Given the description of an element on the screen output the (x, y) to click on. 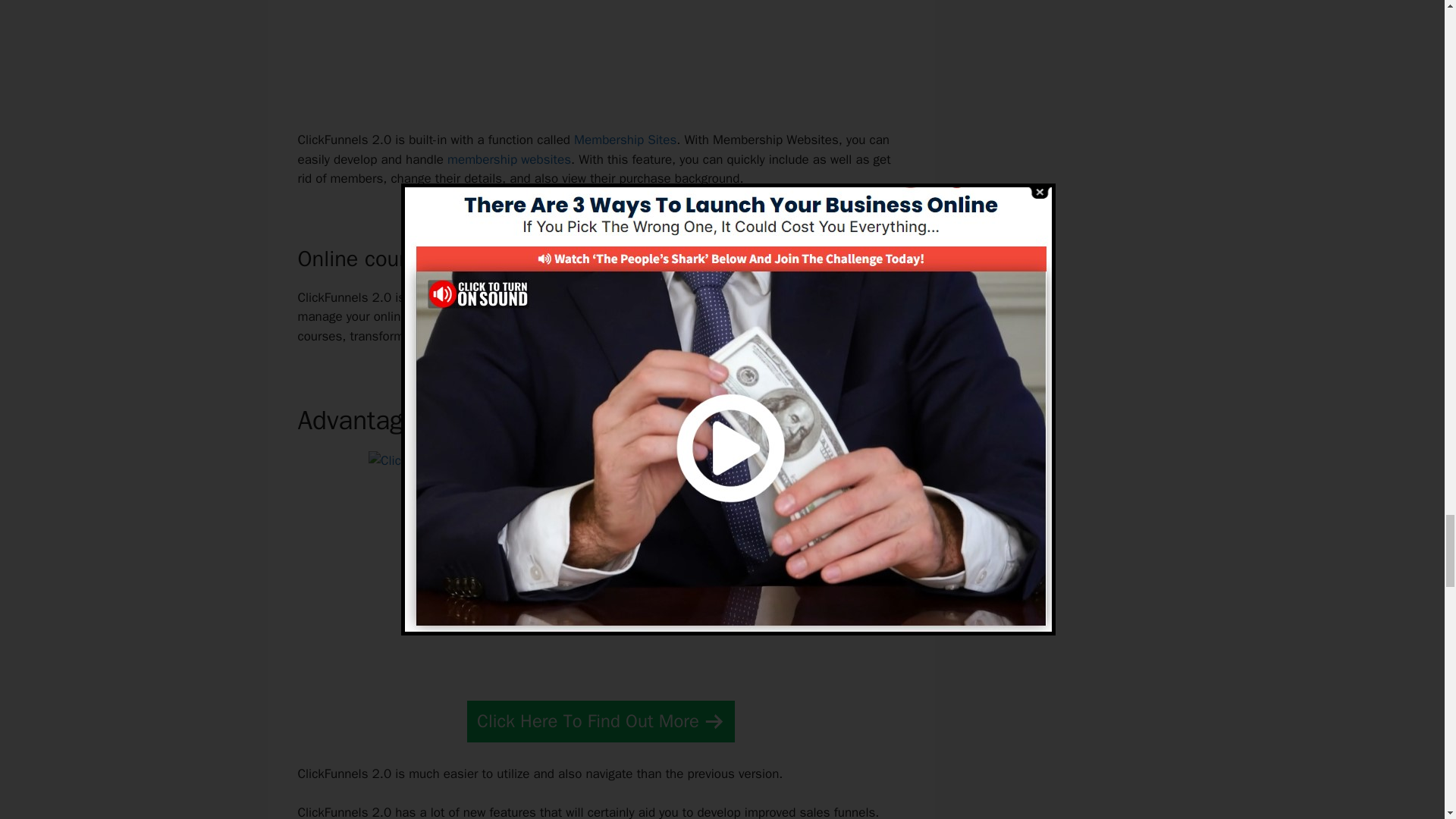
Membership Sites (625, 139)
membership websites (508, 159)
Click Here To Find Out More (601, 721)
